Given the description of an element on the screen output the (x, y) to click on. 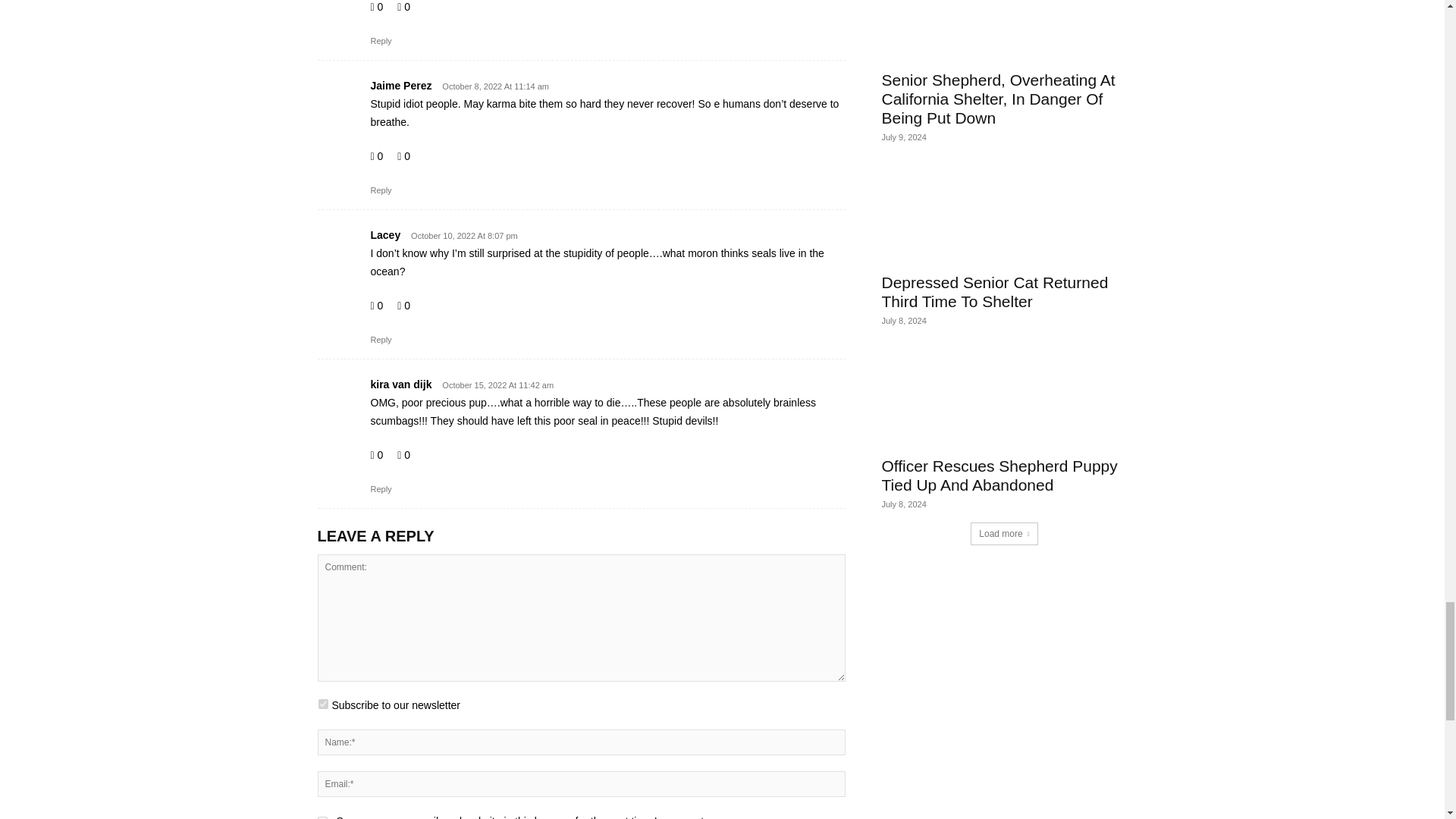
1 (323, 704)
